Given the description of an element on the screen output the (x, y) to click on. 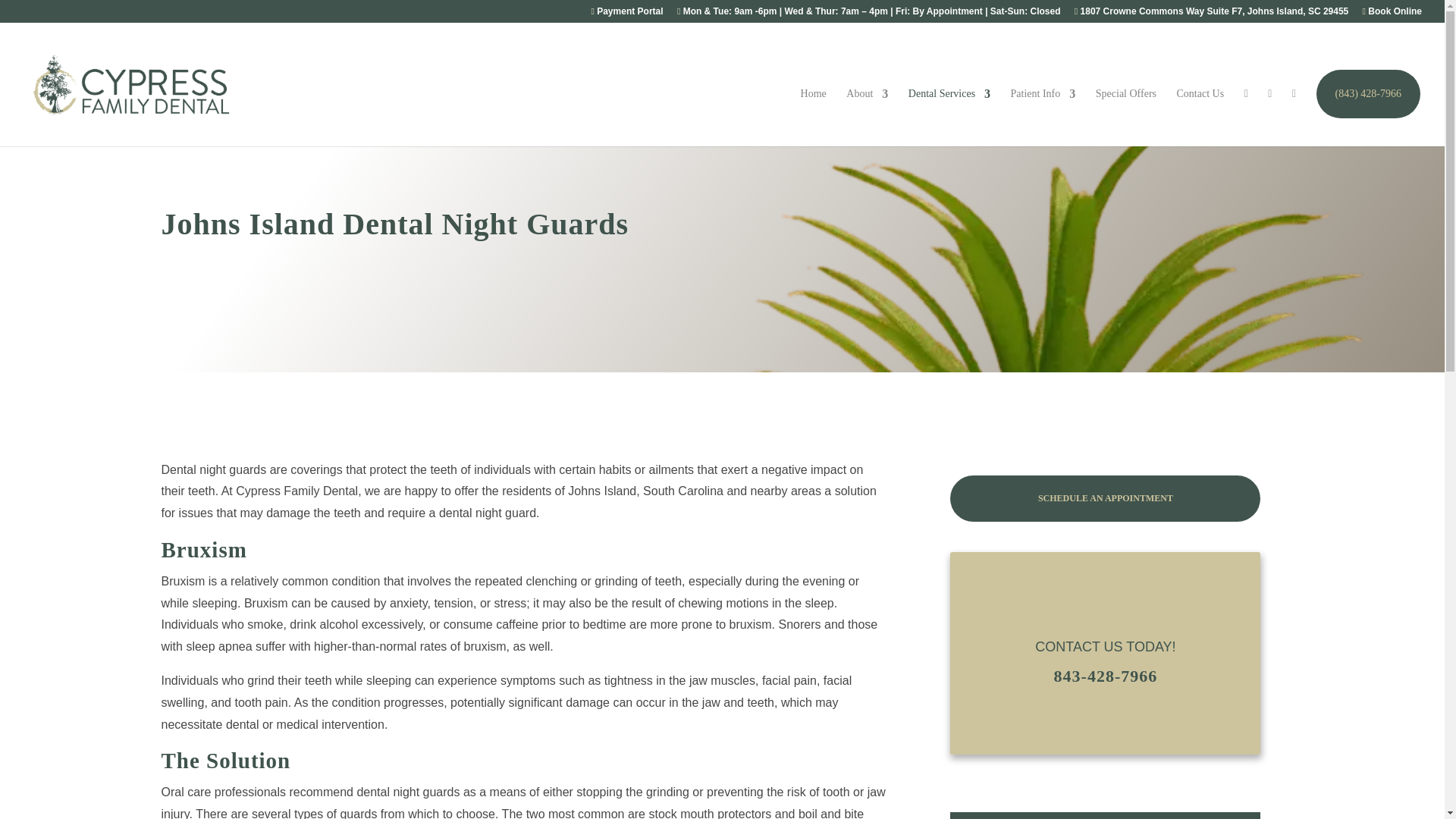
Dental Services (949, 117)
1807 Crowne Commons Way Suite F7, Johns Island, SC 29455 (1211, 14)
Payment Portal (626, 14)
Patient Info (1042, 117)
Book Online (1392, 14)
